Given the description of an element on the screen output the (x, y) to click on. 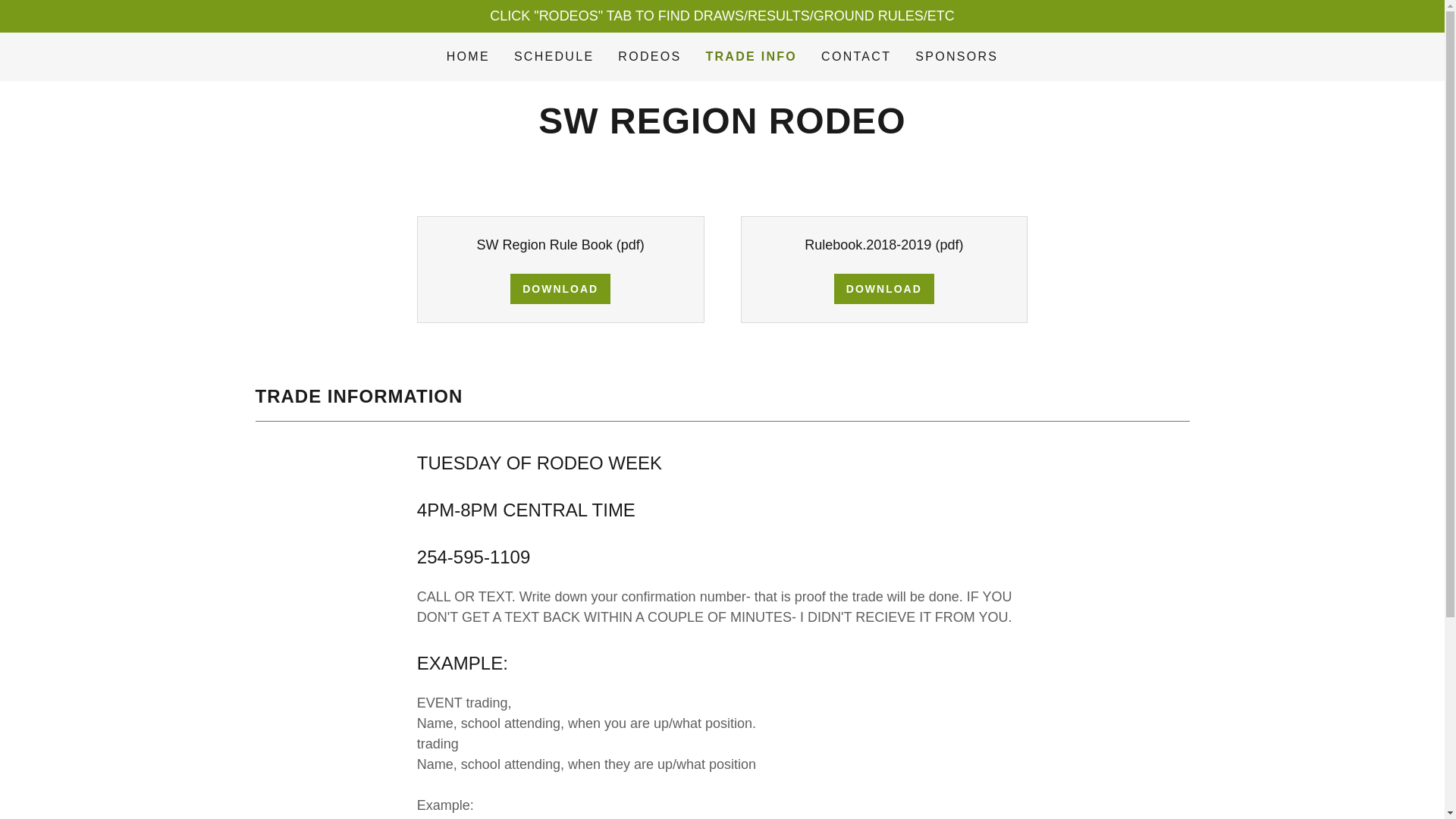
DOWNLOAD (560, 288)
RODEOS (648, 56)
SPONSORS (957, 56)
HOME (468, 56)
SW REGION RODEO (721, 128)
SCHEDULE (553, 56)
DOWNLOAD (884, 288)
CONTACT (855, 56)
SW REGION RODEO (721, 128)
TRADE INFO (750, 56)
